Given the description of an element on the screen output the (x, y) to click on. 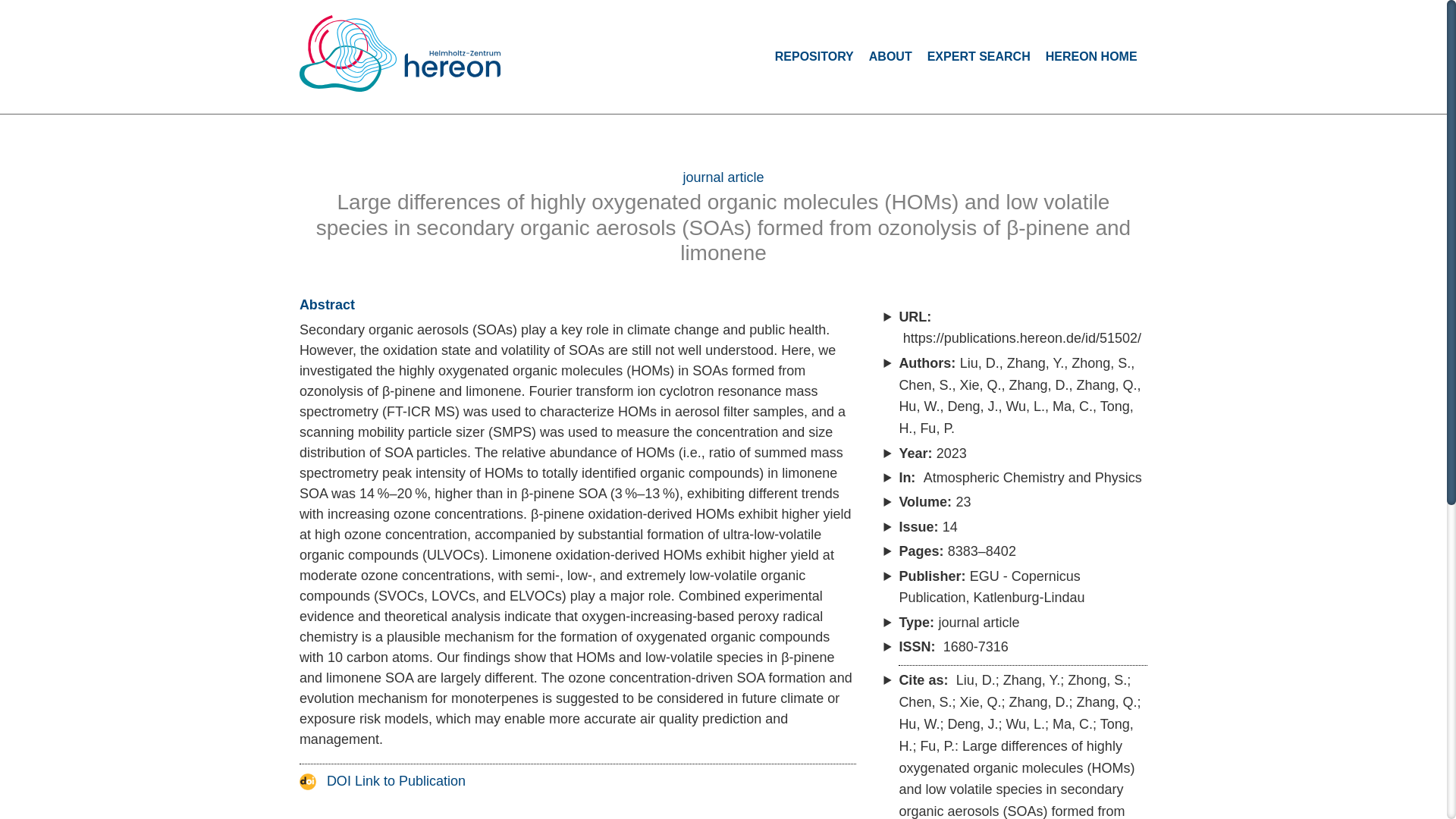
Publications Homepage (399, 53)
HEREON HOME (1091, 56)
REPOSITORY (813, 56)
Publications Homepage (409, 60)
DOI Link to Publication (382, 781)
Back to Publications Homepage (409, 60)
EXPERT SEARCH (978, 56)
ABOUT (890, 56)
